Given the description of an element on the screen output the (x, y) to click on. 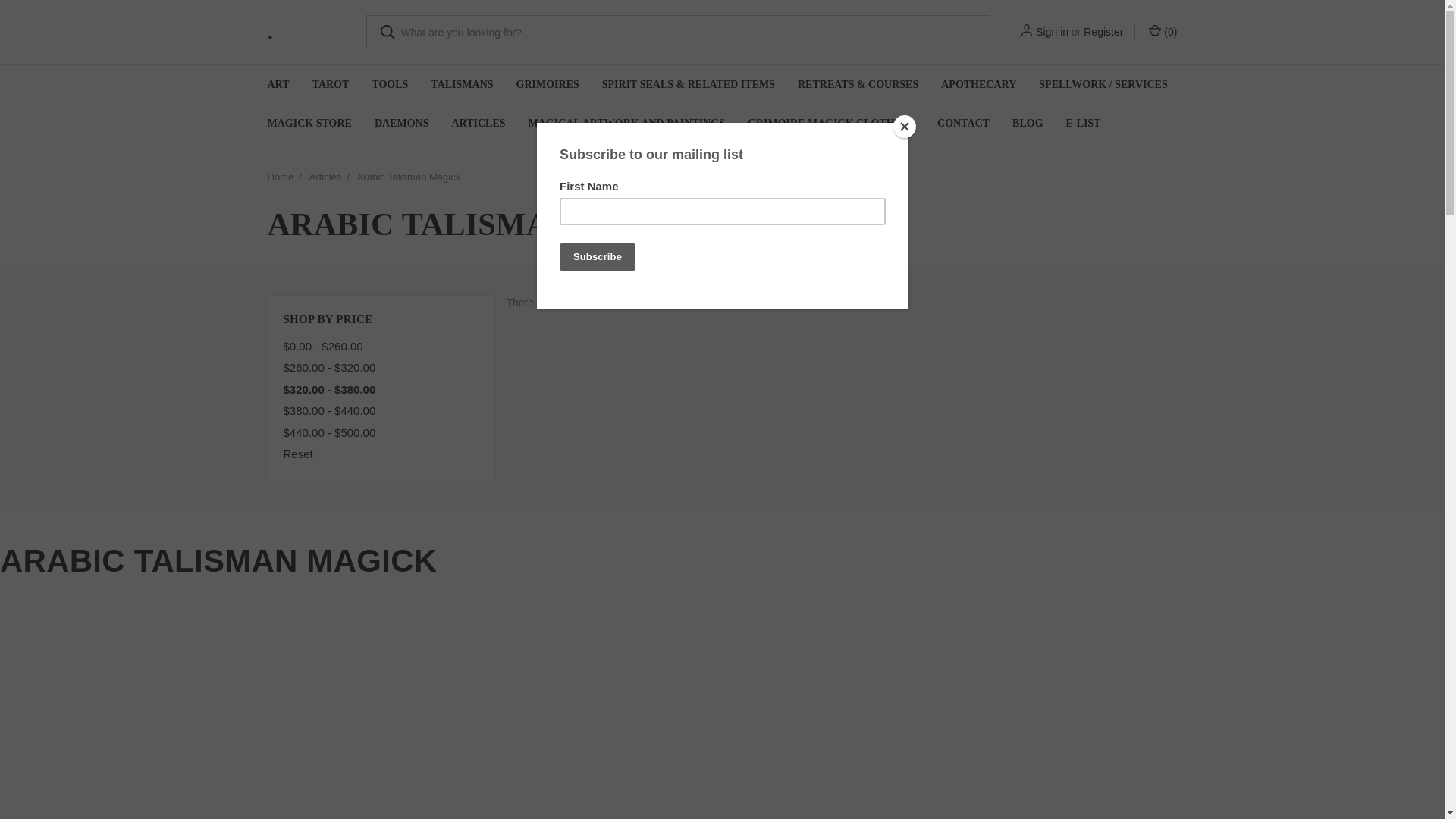
ART (278, 84)
Sign in (1051, 32)
Register (1102, 32)
TALISMANS (461, 84)
TAROT (331, 84)
TOOLS (389, 84)
